Given the description of an element on the screen output the (x, y) to click on. 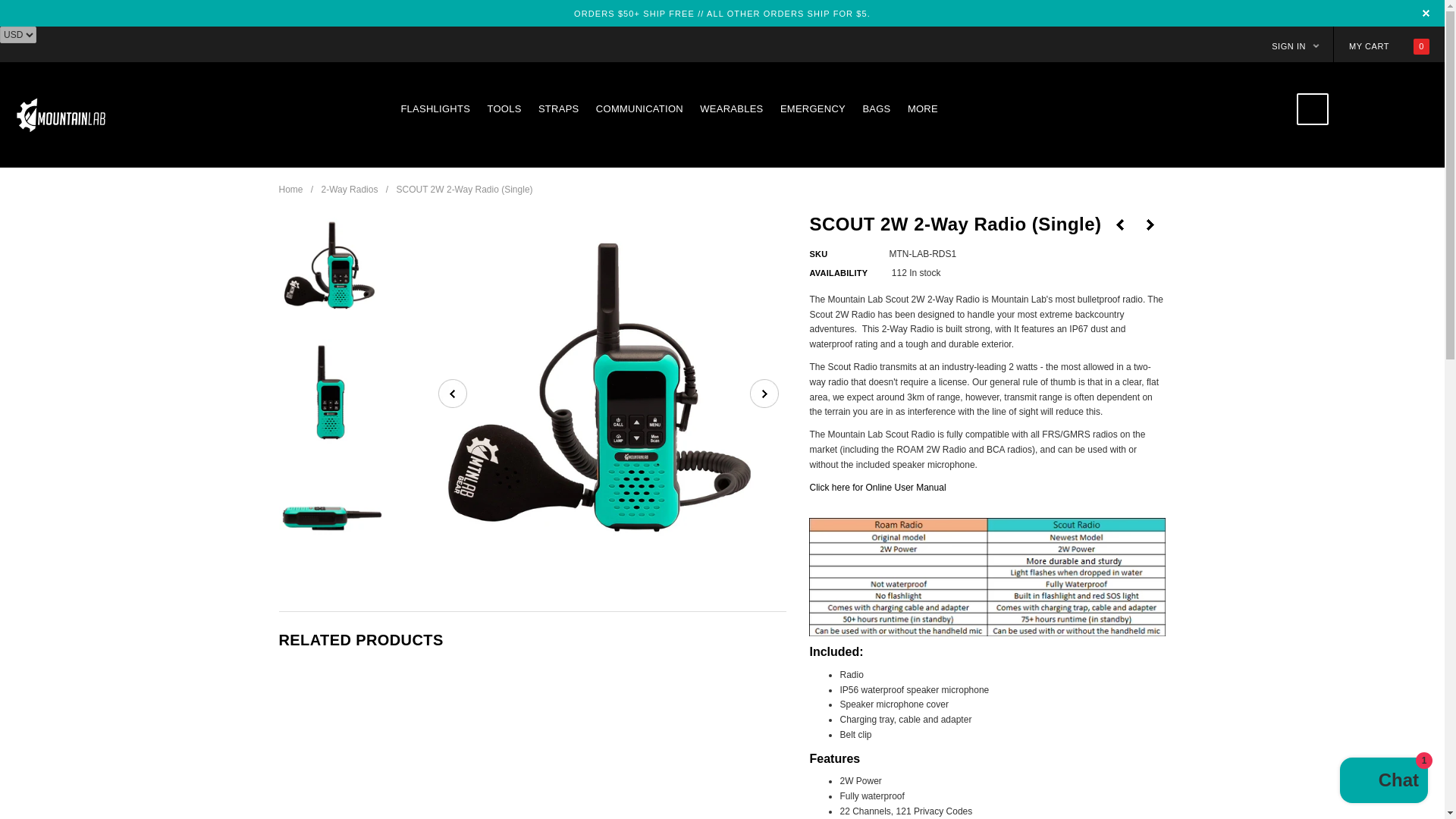
Shopify online store chat (1383, 781)
